Given the description of an element on the screen output the (x, y) to click on. 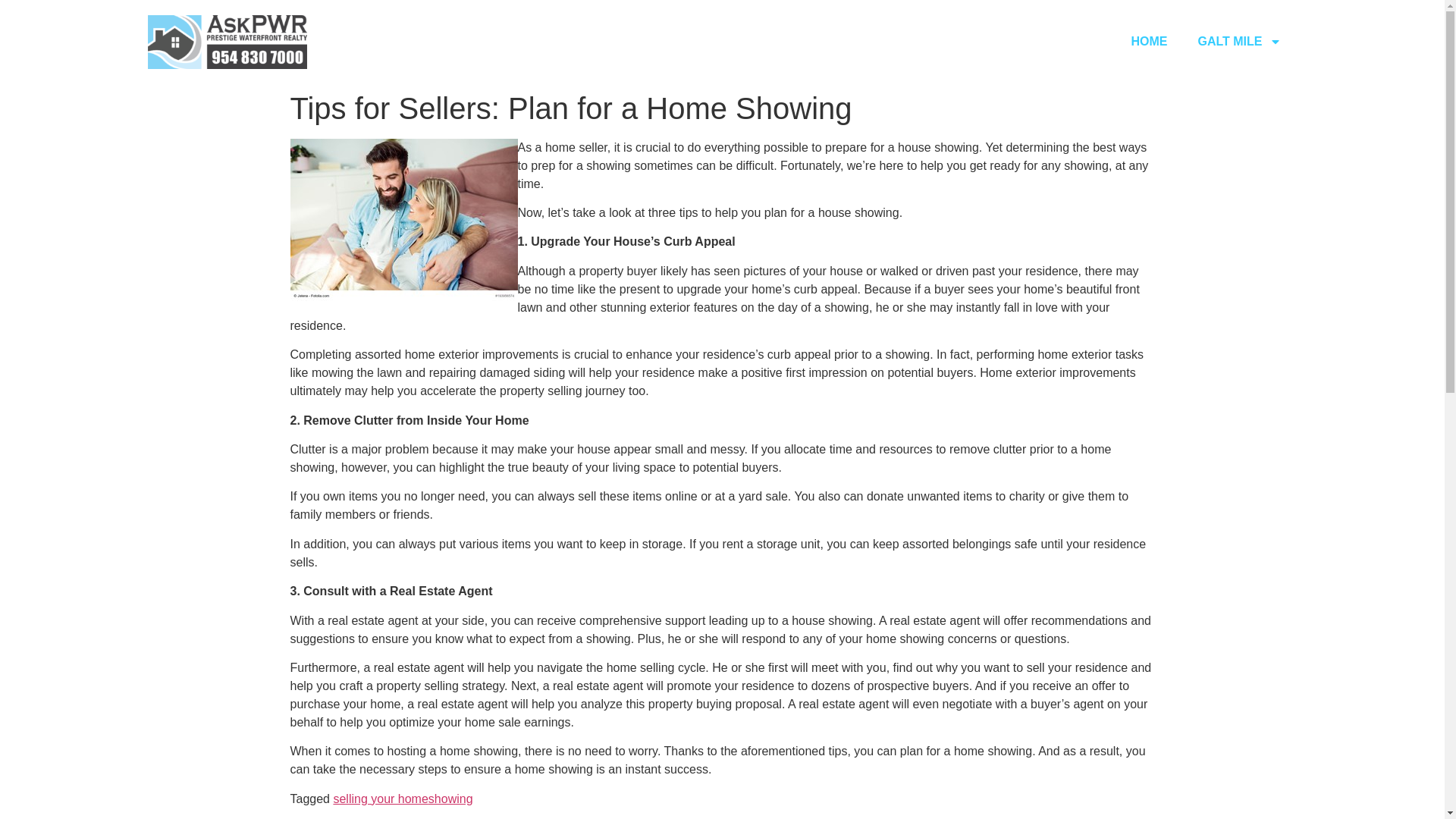
askpwr logo (226, 41)
Tips for Sellers: Plan for a Home Showing 1 (402, 219)
HOME (1148, 41)
GALT MILE (1239, 41)
